Given the description of an element on the screen output the (x, y) to click on. 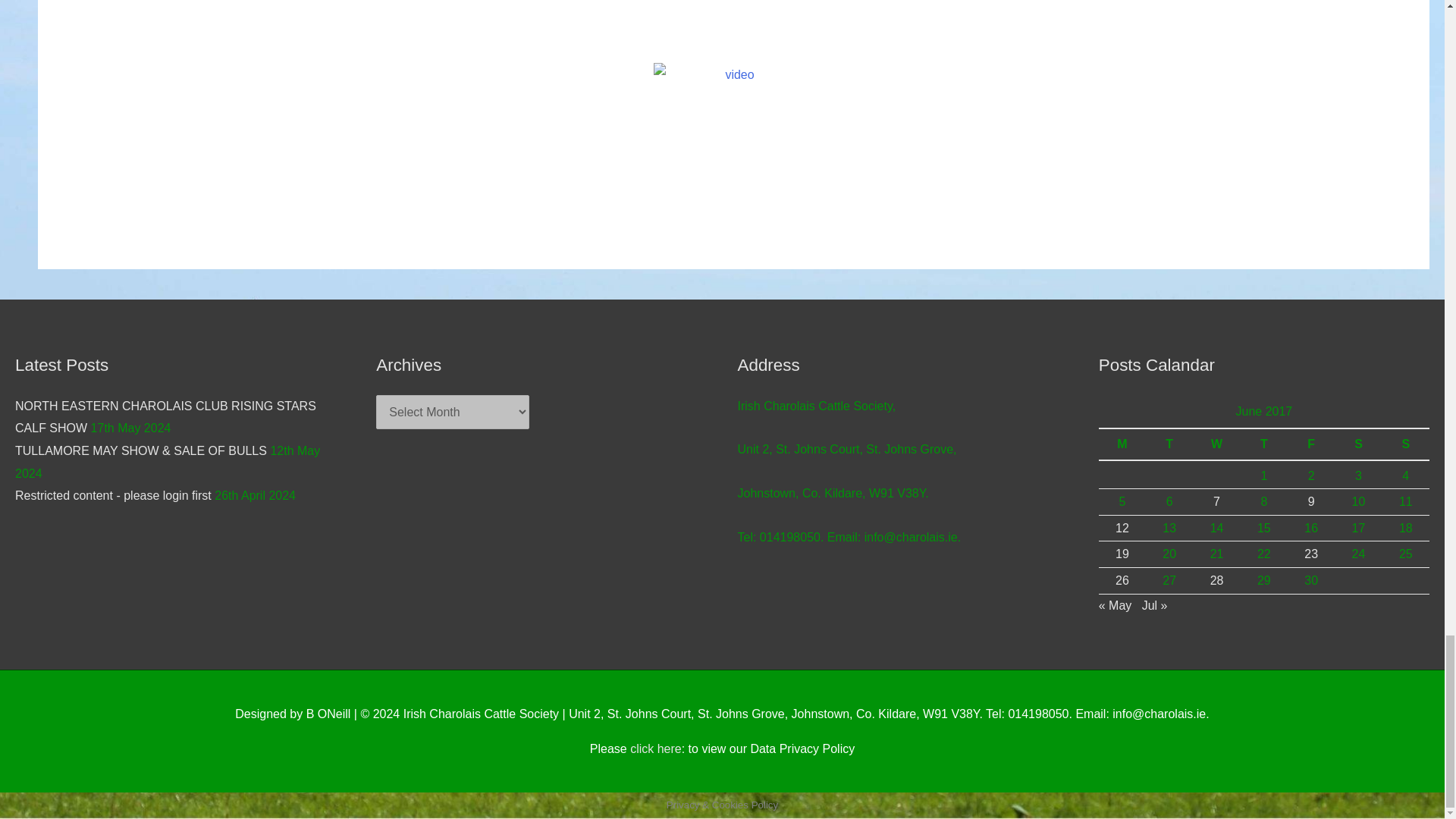
Monday (1122, 444)
Wednesday (1216, 444)
Friday (1311, 444)
Thursday (1263, 444)
Tuesday (1168, 444)
